Given the description of an element on the screen output the (x, y) to click on. 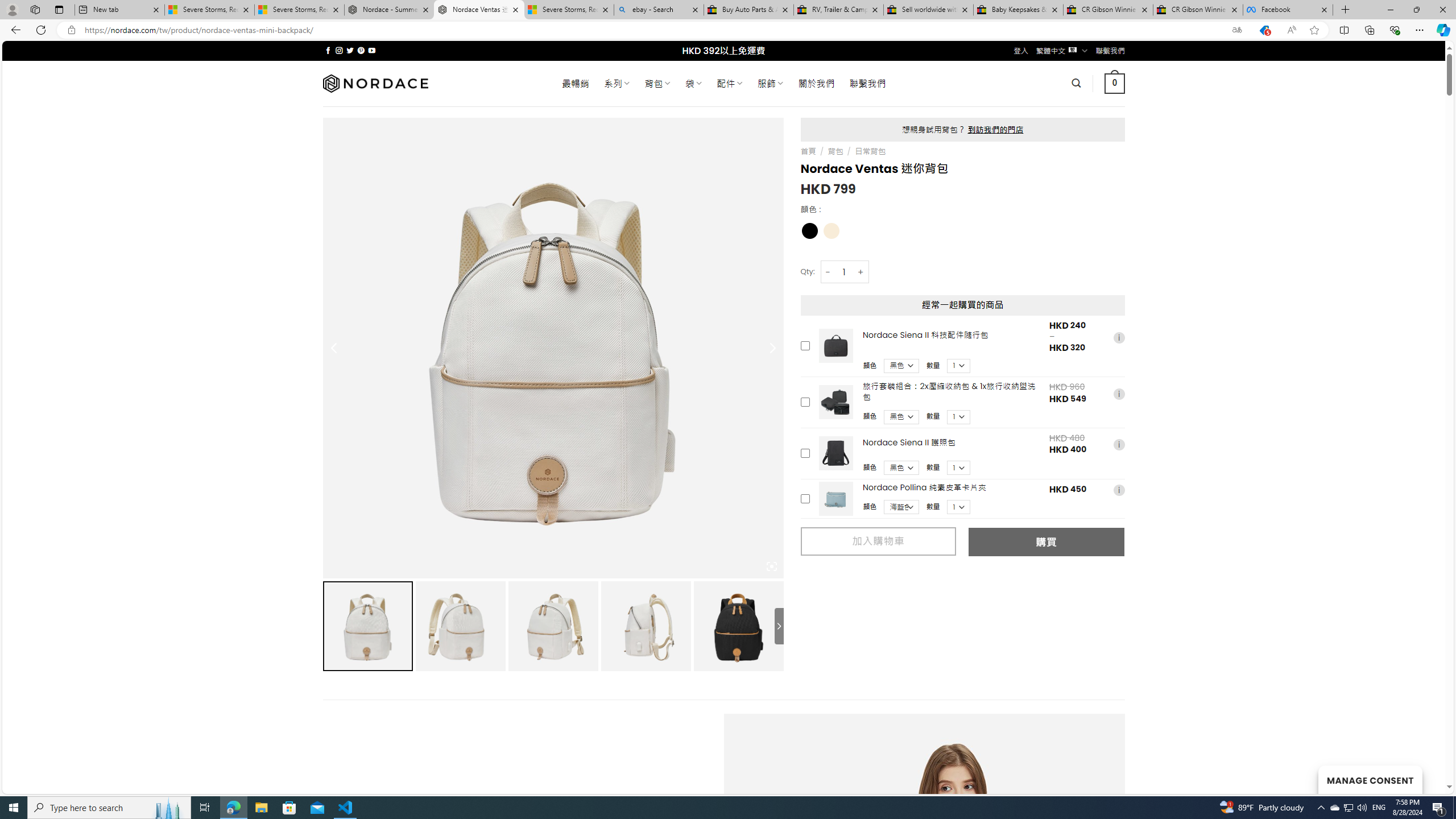
Show translate options (1236, 29)
ebay - Search (658, 9)
Facebook (1287, 9)
+ (861, 272)
Baby Keepsakes & Announcements for sale | eBay (1018, 9)
Class: upsell-v2-product-upsell-variable-product-qty-select (958, 506)
